Given the description of an element on the screen output the (x, y) to click on. 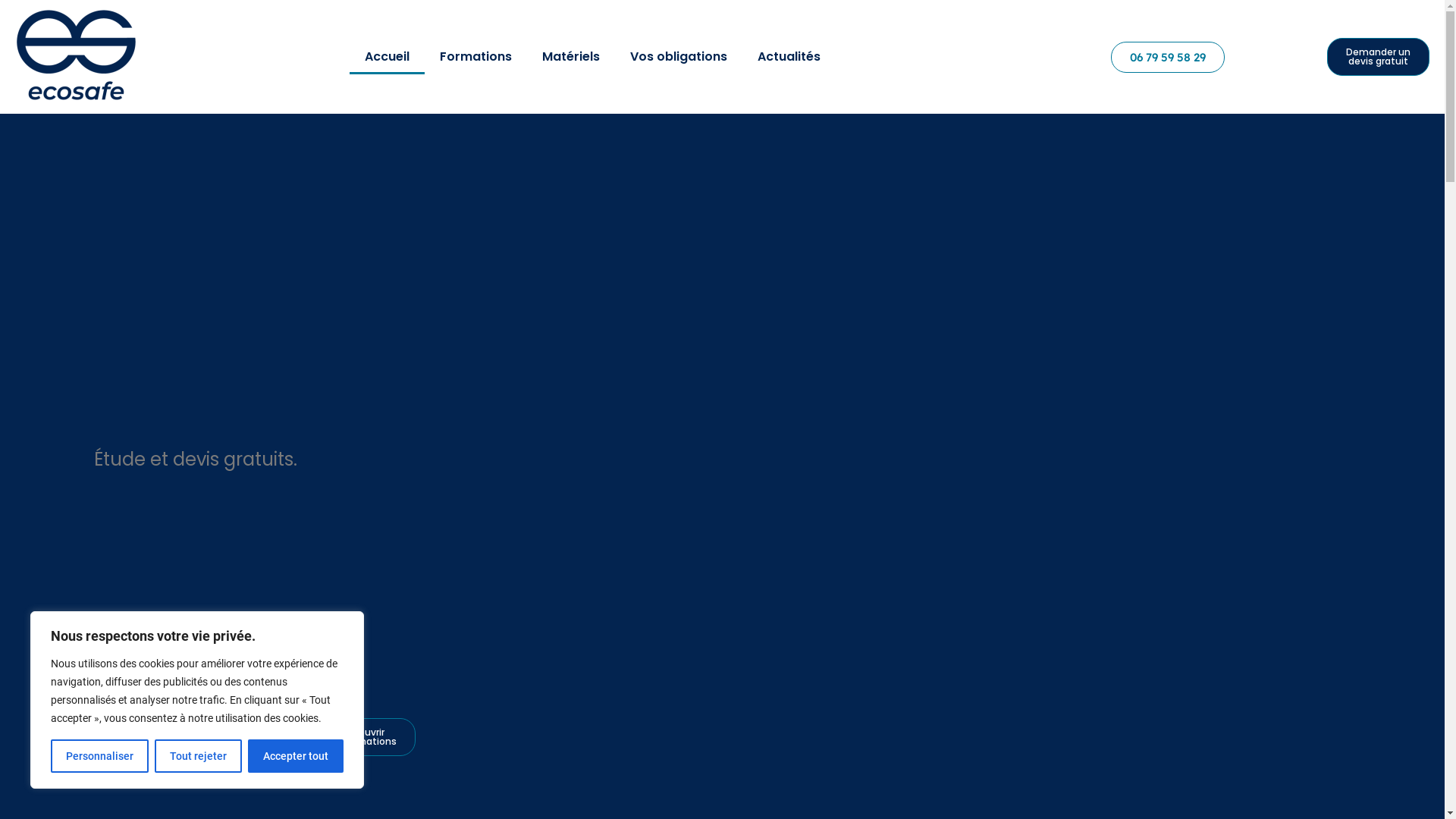
Personnaliser Element type: text (99, 755)
Demander un
devis gratuit Element type: text (1378, 56)
Formations Element type: text (475, 56)
Vos obligations Element type: text (678, 56)
Accepter tout Element type: text (295, 755)
Accueil Element type: text (386, 56)
Tout rejeter Element type: text (197, 755)
Demander un
devis gratuit Element type: text (150, 737)
06 79 59 58 29 Element type: text (1167, 56)
